Given the description of an element on the screen output the (x, y) to click on. 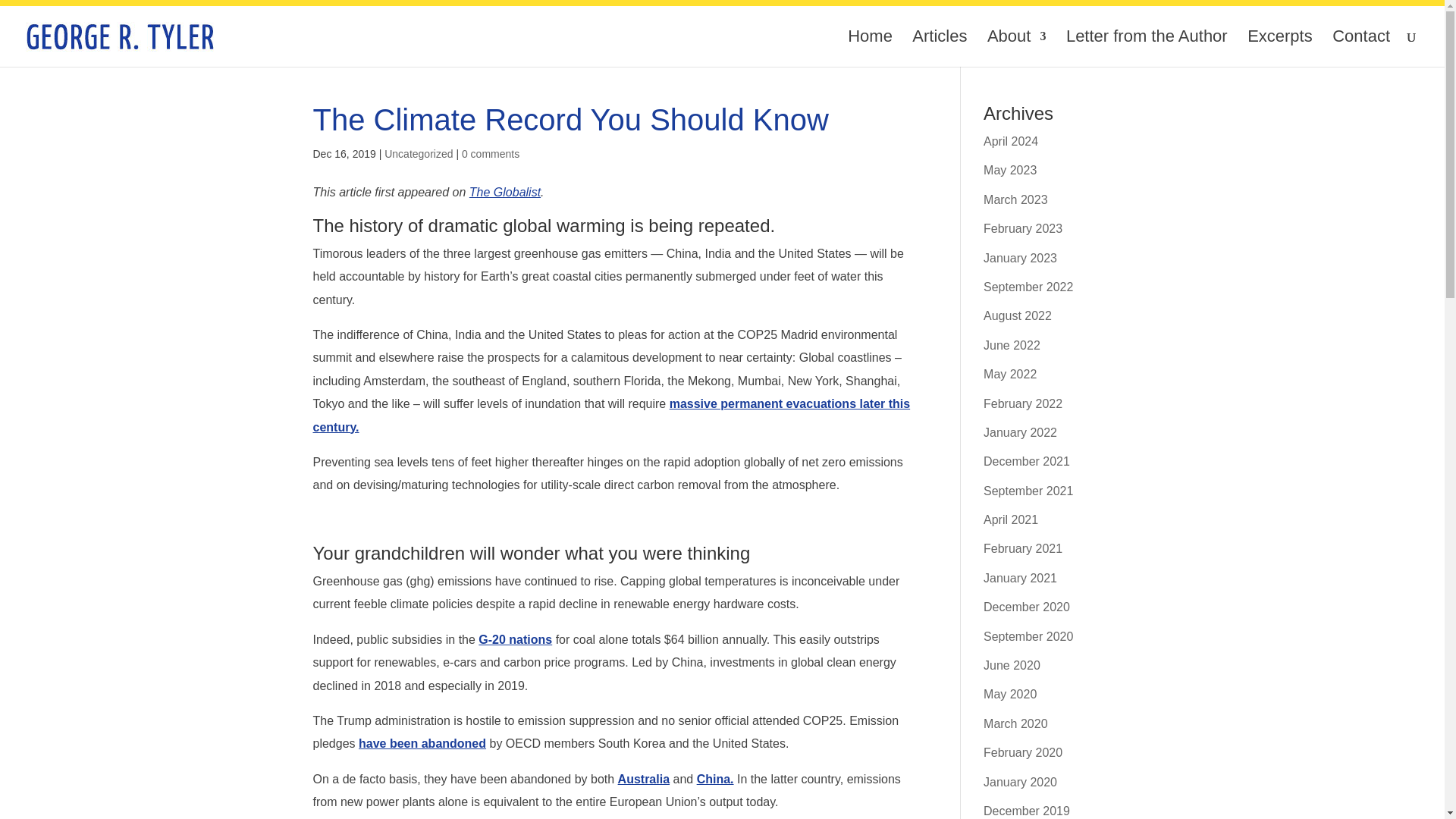
Letter from the Author (1146, 48)
Articles (939, 48)
China. (715, 779)
Uncategorized (418, 153)
have been abandoned (422, 743)
Excerpts (1280, 48)
Home (869, 48)
0 comments (490, 153)
About (1016, 48)
Contact (1361, 48)
